Given the description of an element on the screen output the (x, y) to click on. 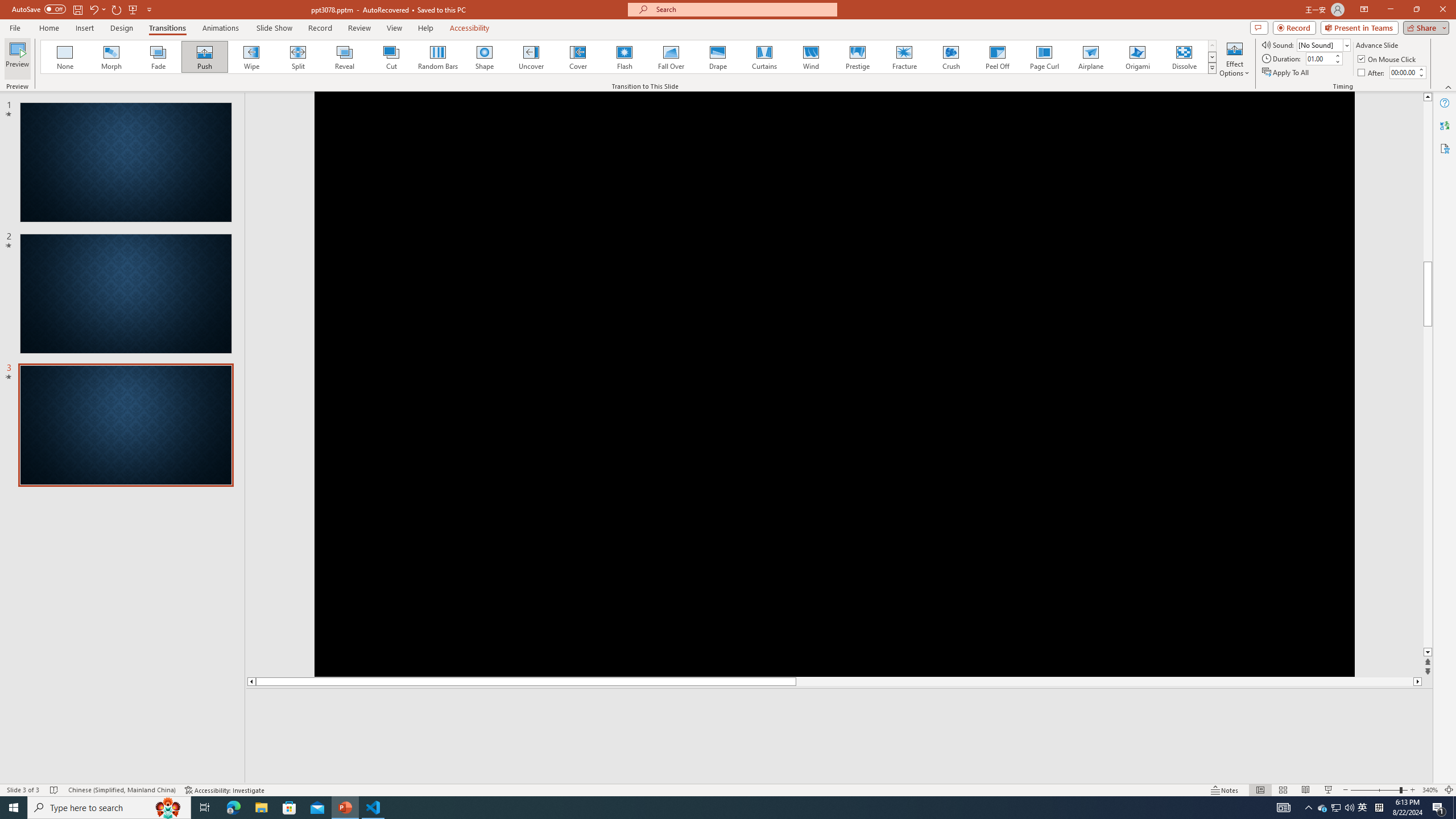
On Mouse Click (1387, 58)
Curtains (764, 56)
Peel Off (997, 56)
Wind (810, 56)
